Given the description of an element on the screen output the (x, y) to click on. 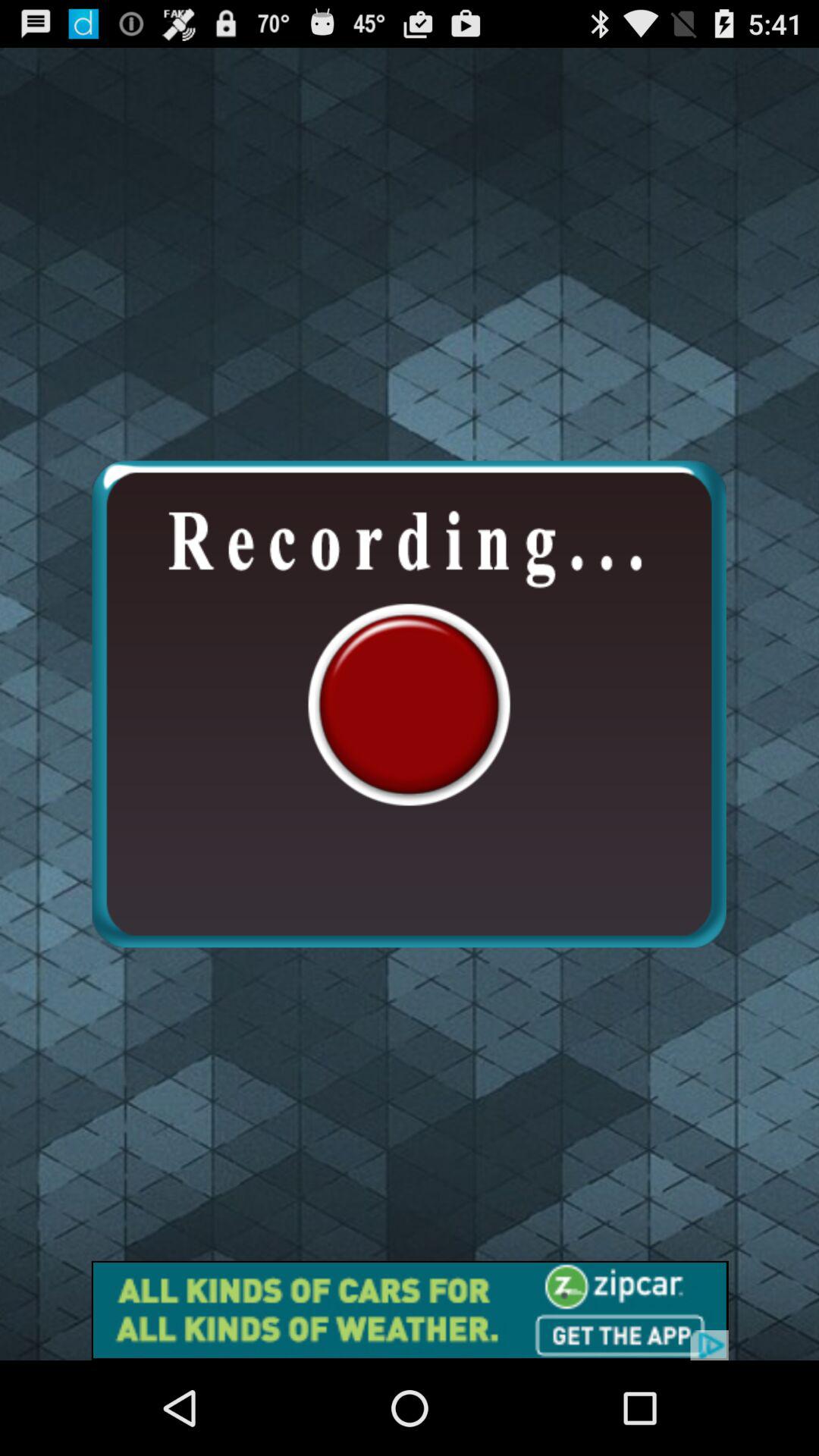
toggle to record option (409, 703)
